Given the description of an element on the screen output the (x, y) to click on. 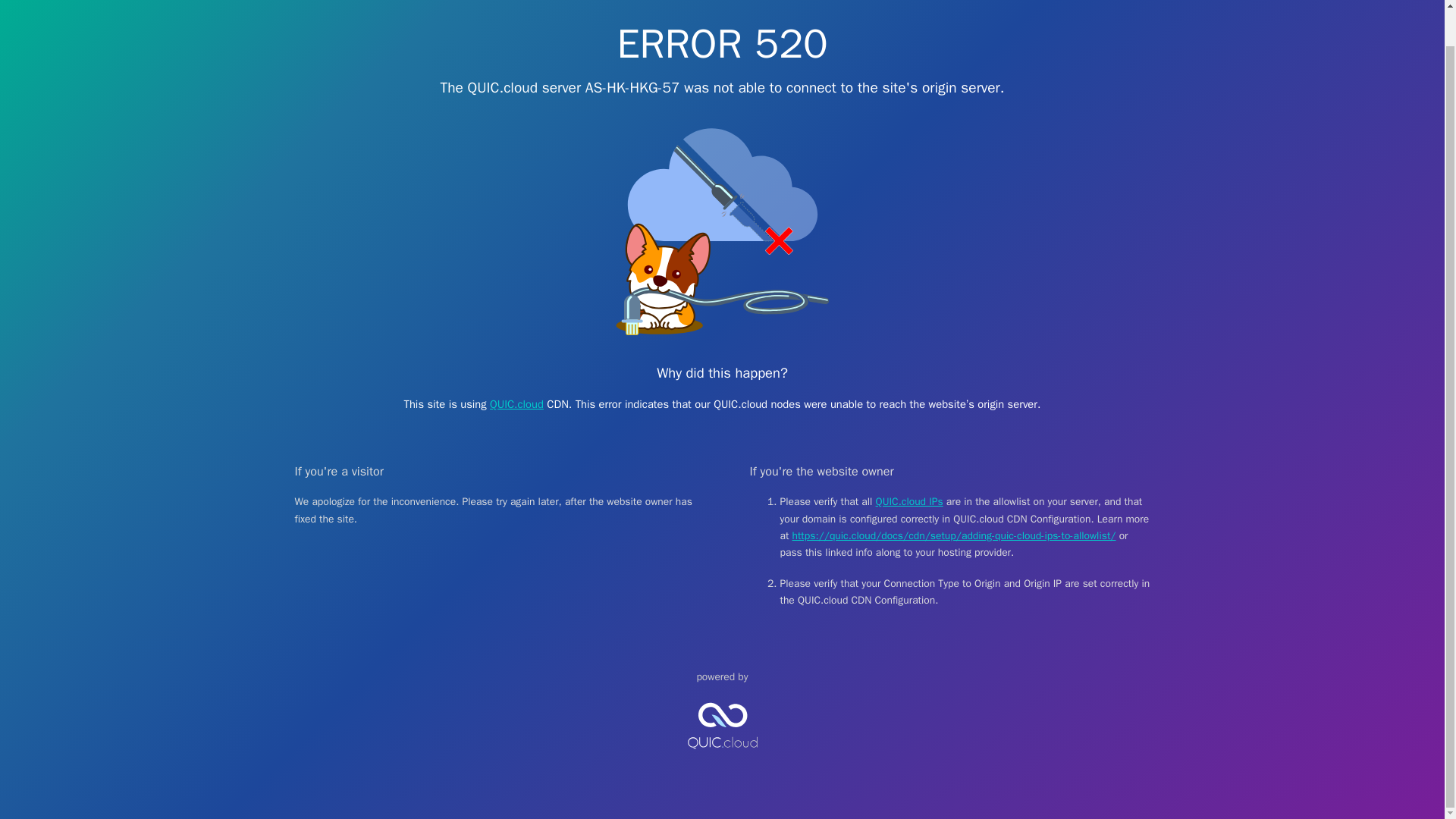
QUIC.cloud (721, 761)
QUIC.cloud IPs (909, 501)
QUIC.cloud (516, 404)
